Given the description of an element on the screen output the (x, y) to click on. 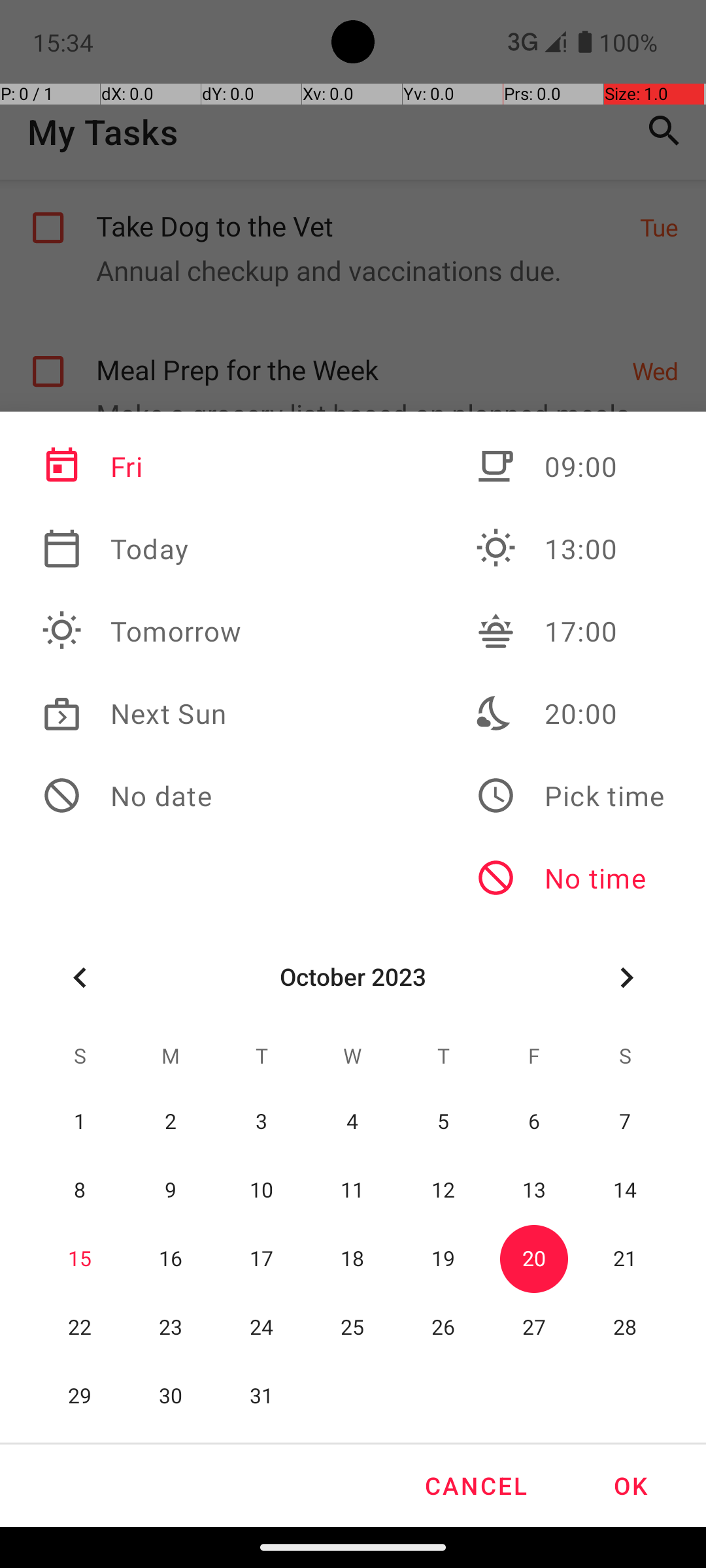
Fri Element type: android.widget.CompoundButton (141, 466)
Tomorrow Element type: android.widget.CompoundButton (141, 630)
Next Sun Element type: android.widget.CompoundButton (141, 713)
No date Element type: android.widget.CompoundButton (141, 795)
20:00 Element type: android.widget.CompoundButton (569, 713)
No time Element type: android.widget.CompoundButton (569, 877)
